Given the description of an element on the screen output the (x, y) to click on. 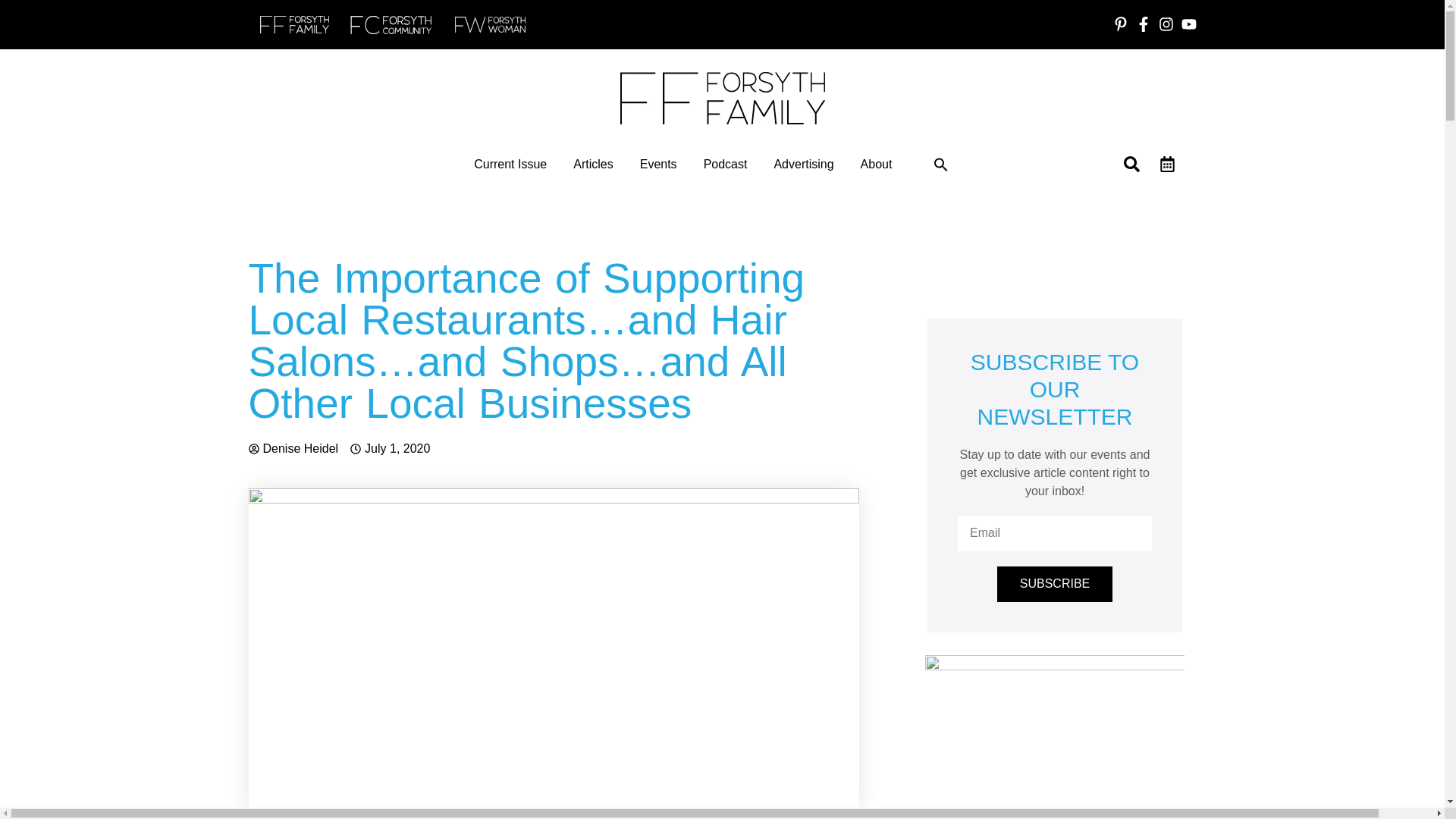
About (876, 164)
Articles (592, 164)
Events (658, 164)
Advertising (802, 164)
Podcast (725, 164)
Current Issue (510, 164)
